Given the description of an element on the screen output the (x, y) to click on. 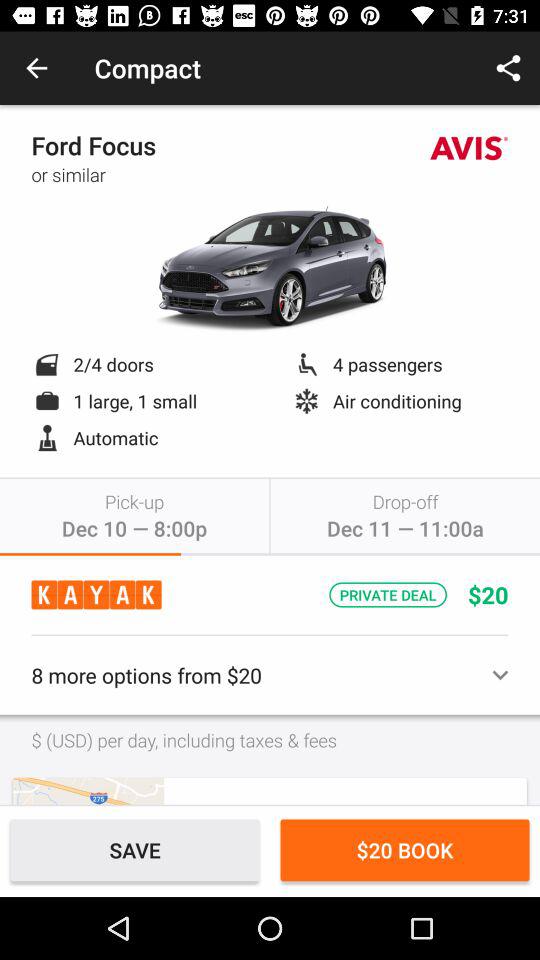
press item to the left of the compact item (36, 68)
